Given the description of an element on the screen output the (x, y) to click on. 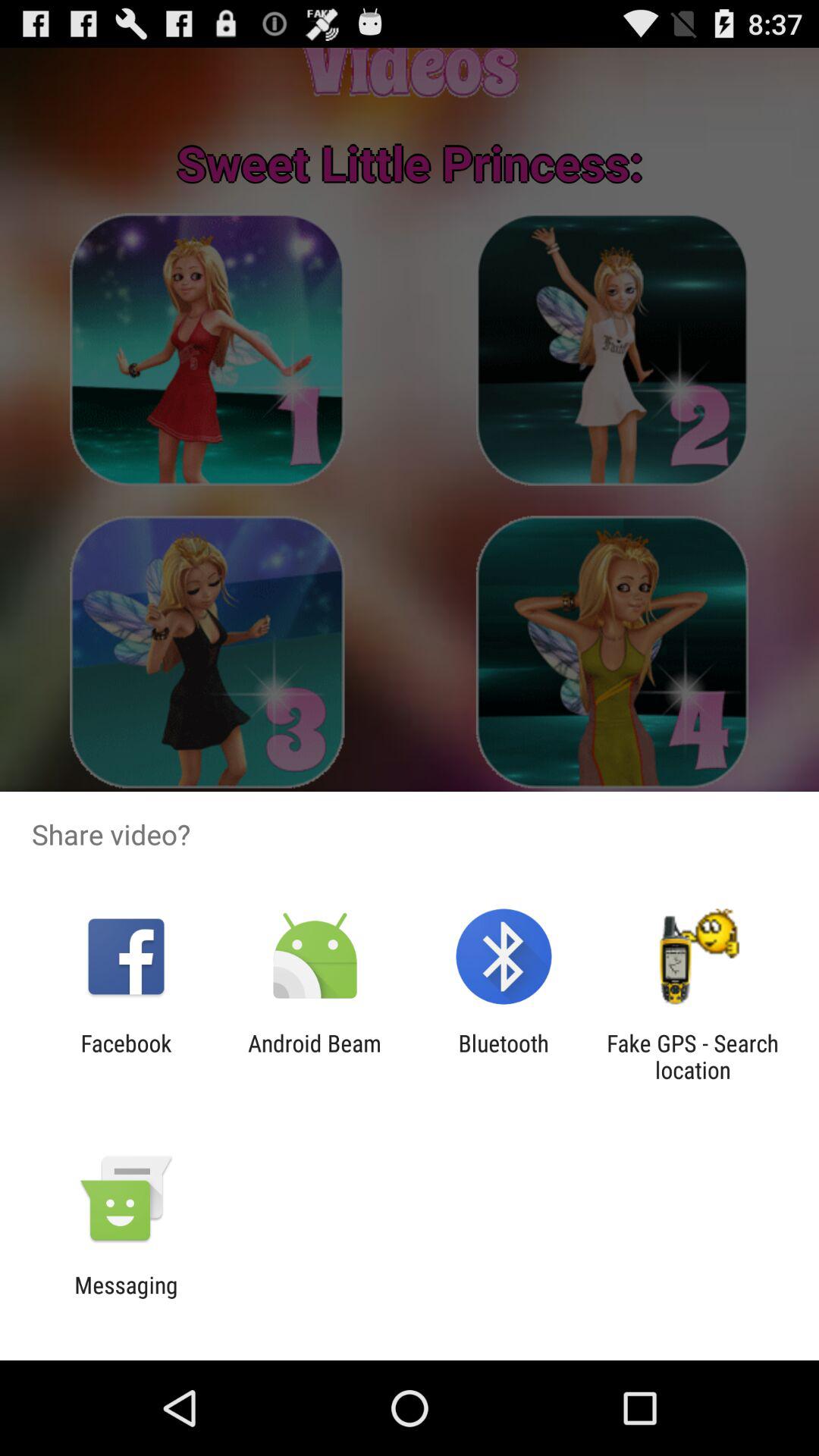
click the item to the right of the bluetooth app (692, 1056)
